Given the description of an element on the screen output the (x, y) to click on. 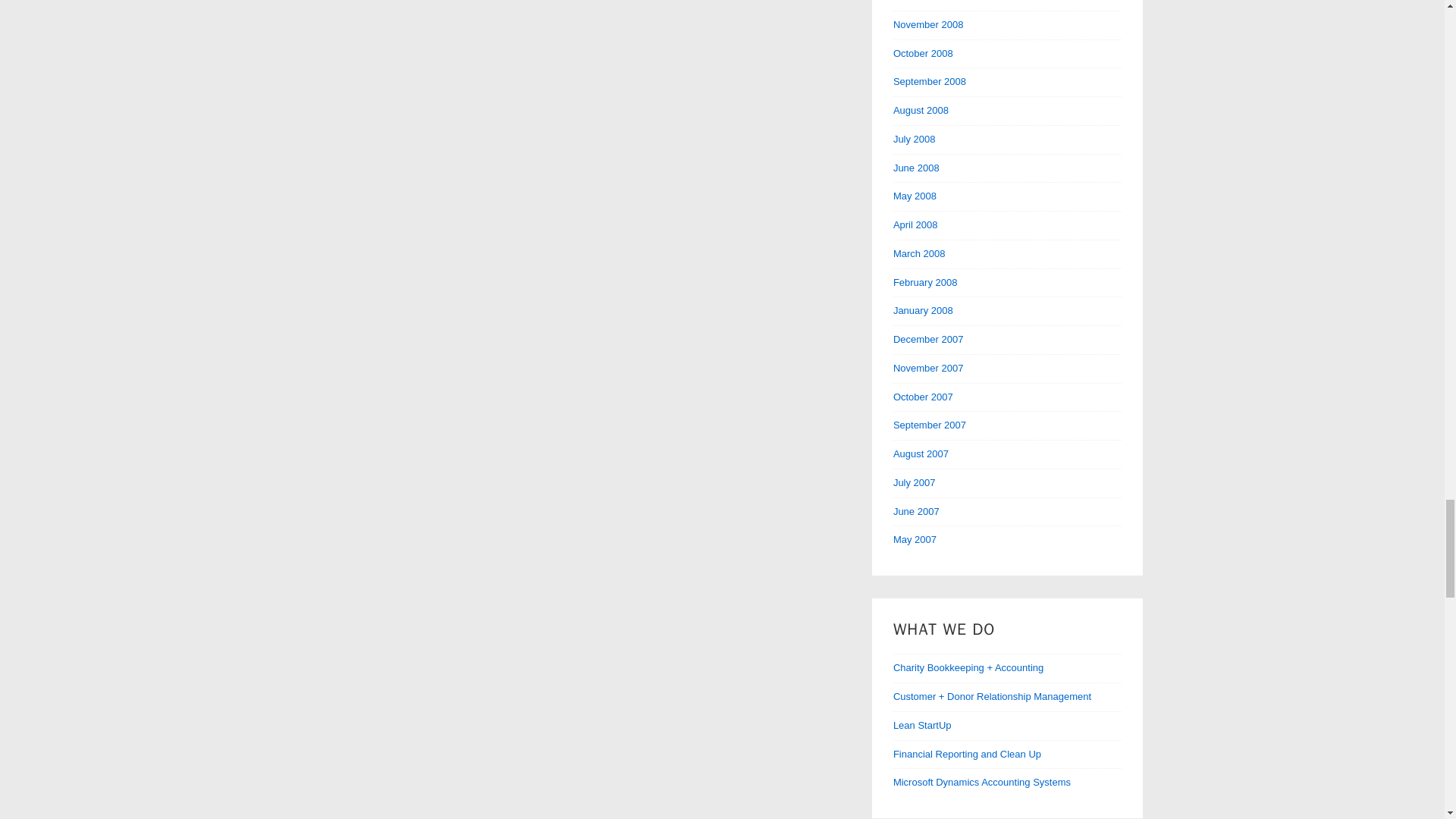
Lean StartUp (922, 725)
Charity Financial Makeovers (968, 667)
Microsoft Dynamics (981, 781)
